Given the description of an element on the screen output the (x, y) to click on. 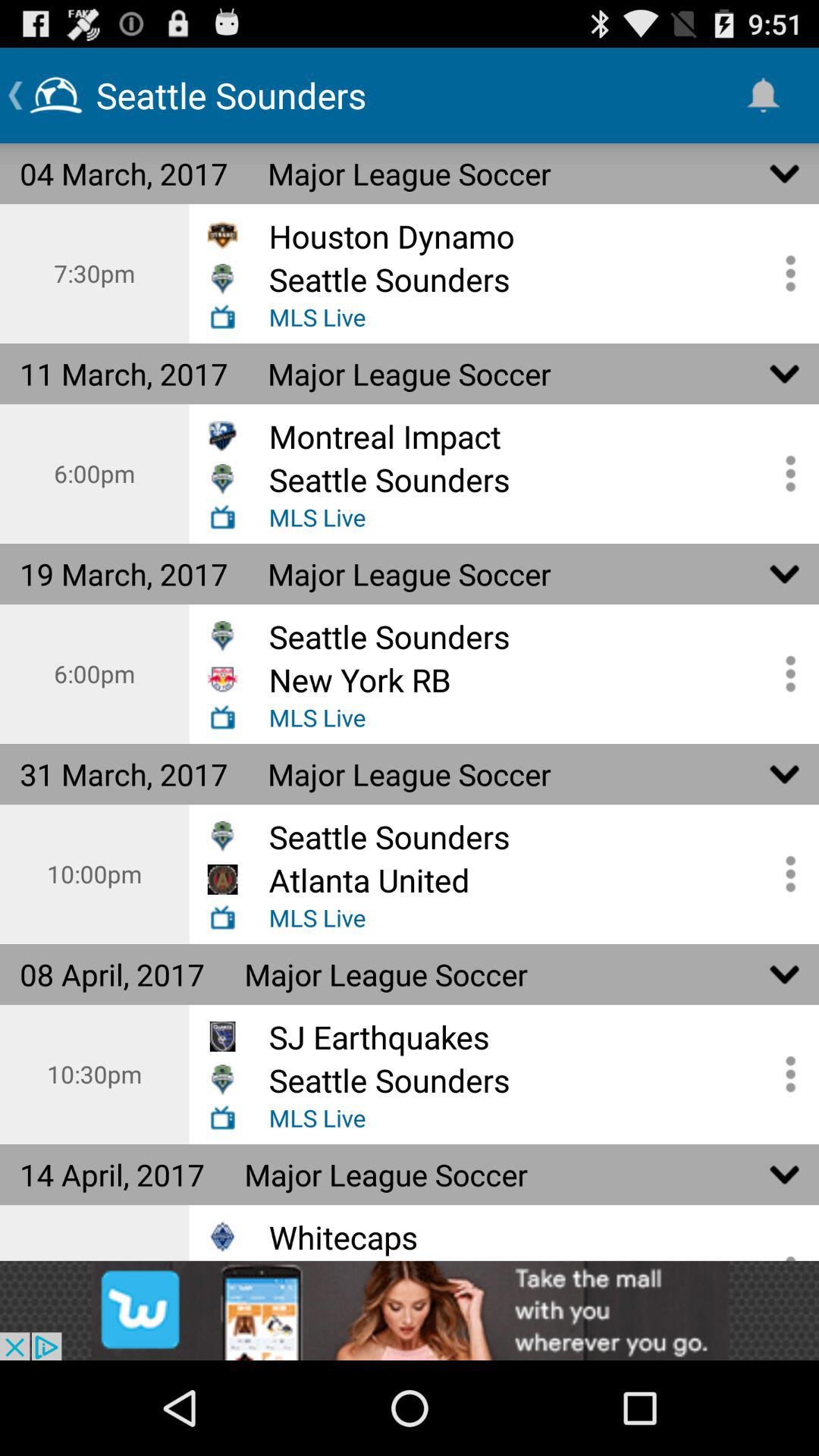
advertisement link (409, 1310)
